Given the description of an element on the screen output the (x, y) to click on. 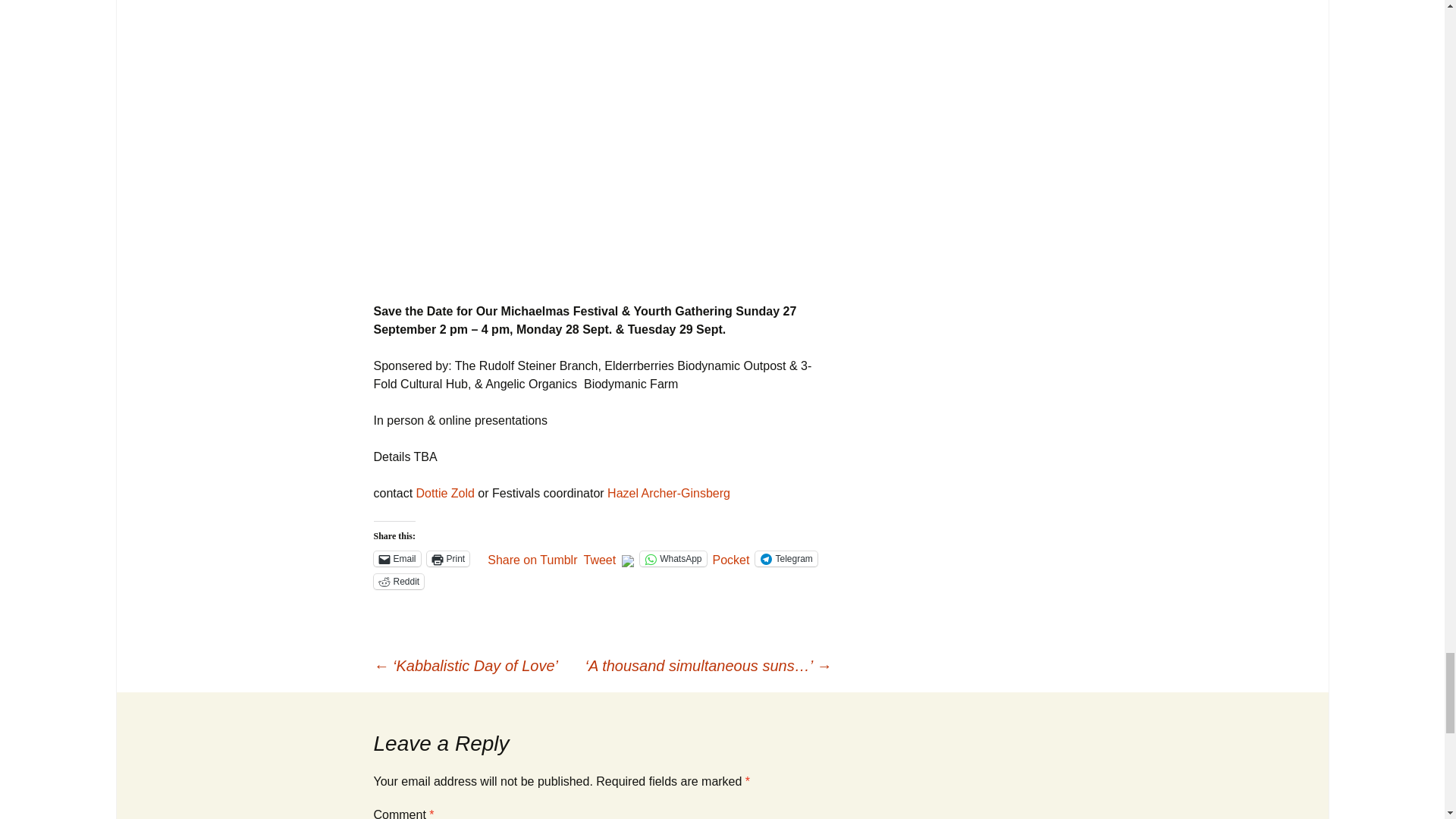
Click to share on WhatsApp (673, 558)
Share on Tumblr (531, 558)
Click to email a link to a friend (396, 558)
Click to print (448, 558)
Click to share on Telegram (785, 558)
Click to share on Reddit (397, 581)
